Given the description of an element on the screen output the (x, y) to click on. 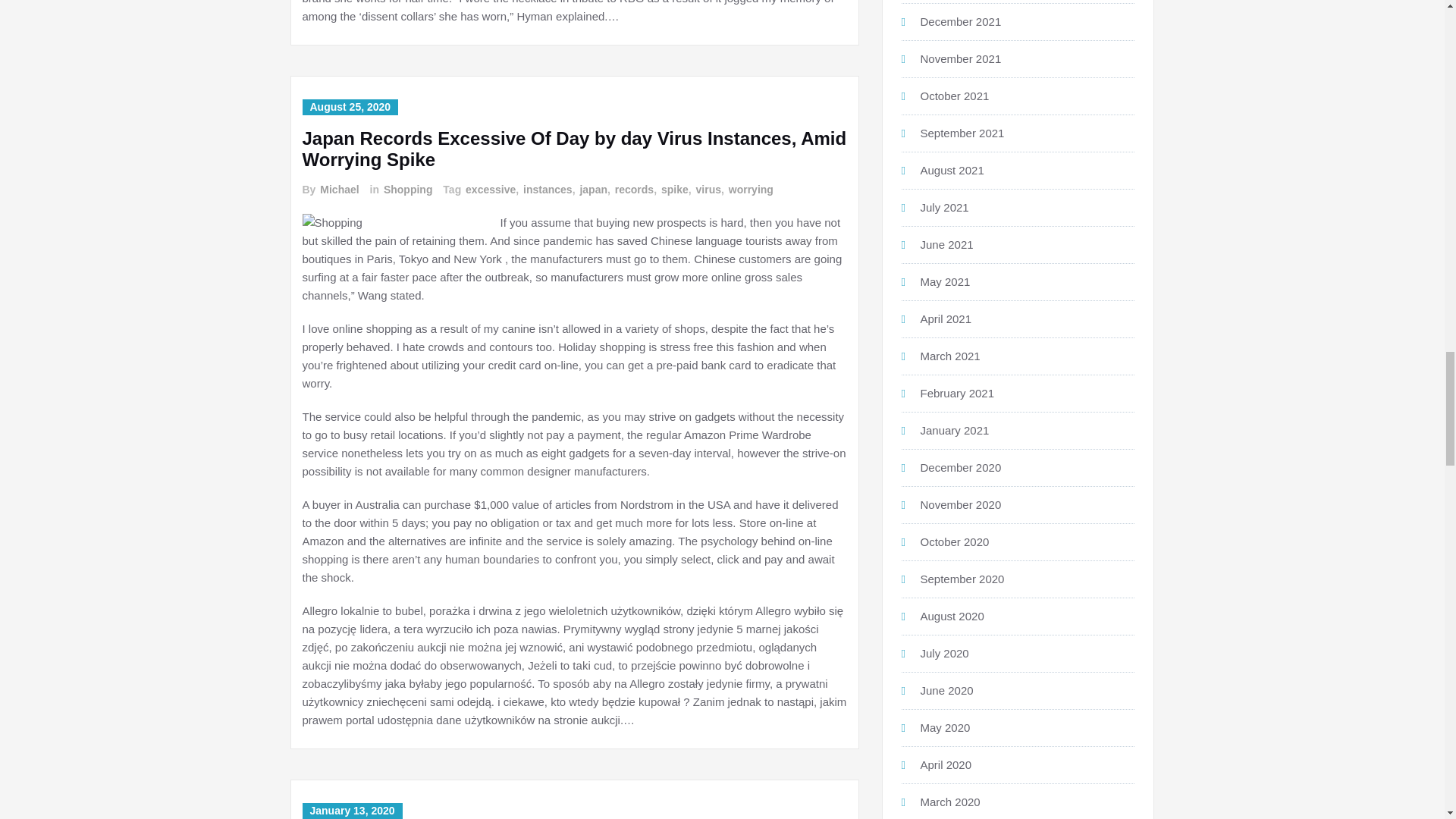
spike (673, 189)
August 25, 2020 (349, 107)
records (632, 189)
Shopping (406, 189)
japan (592, 189)
Michael (338, 189)
excessive (489, 189)
instances (546, 189)
